Given the description of an element on the screen output the (x, y) to click on. 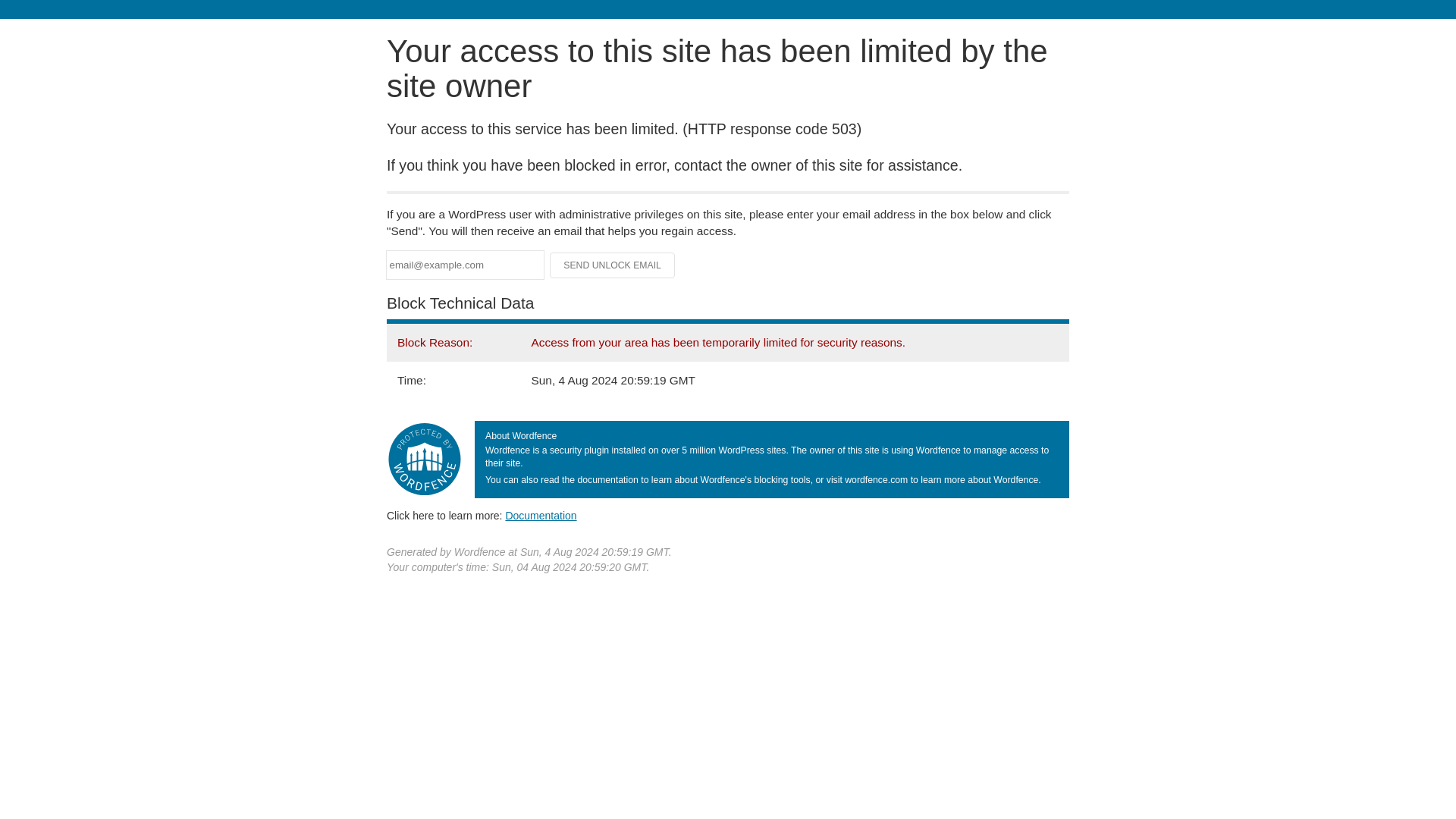
Documentation (540, 515)
Send Unlock Email (612, 265)
Send Unlock Email (612, 265)
